Given the description of an element on the screen output the (x, y) to click on. 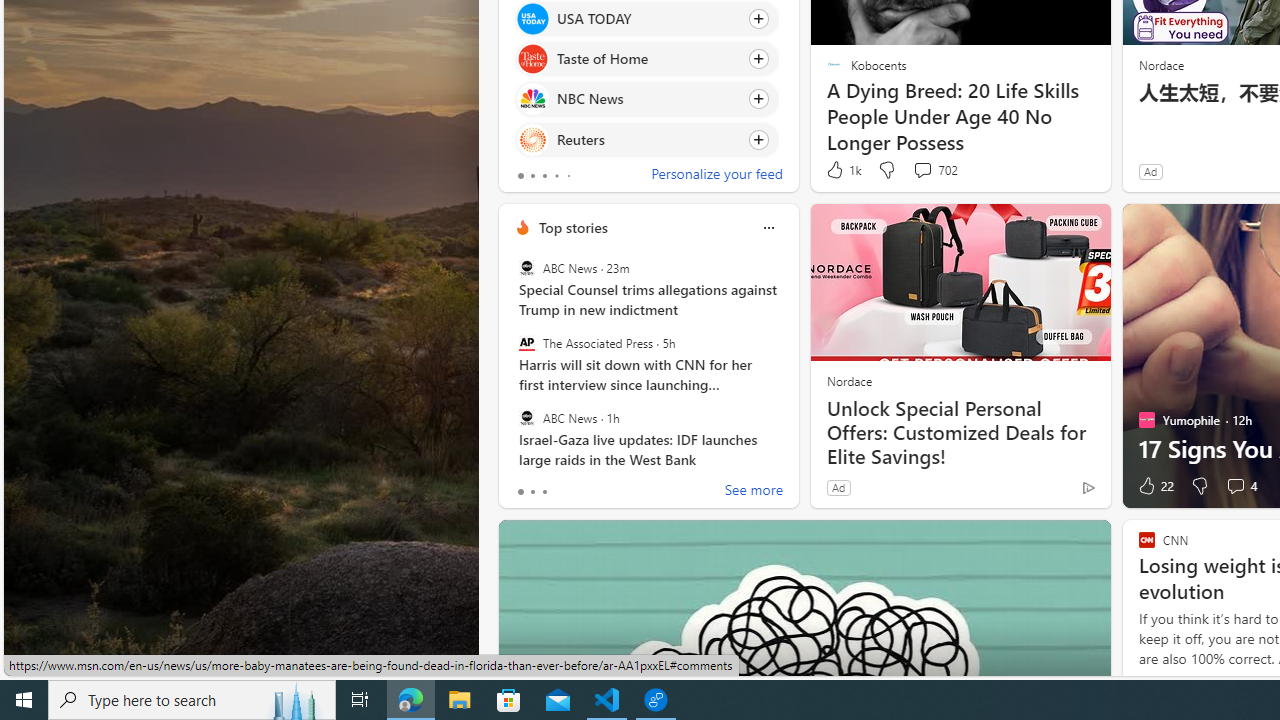
Top stories (572, 227)
View comments 4 Comment (1234, 485)
Personalize your feed (716, 175)
NBC News (532, 98)
tab-4 (567, 175)
Click to follow source Taste of Home (646, 59)
View comments 702 Comment (934, 170)
USA TODAY (532, 18)
tab-2 (543, 491)
Click to follow source USA TODAY (646, 18)
